Given the description of an element on the screen output the (x, y) to click on. 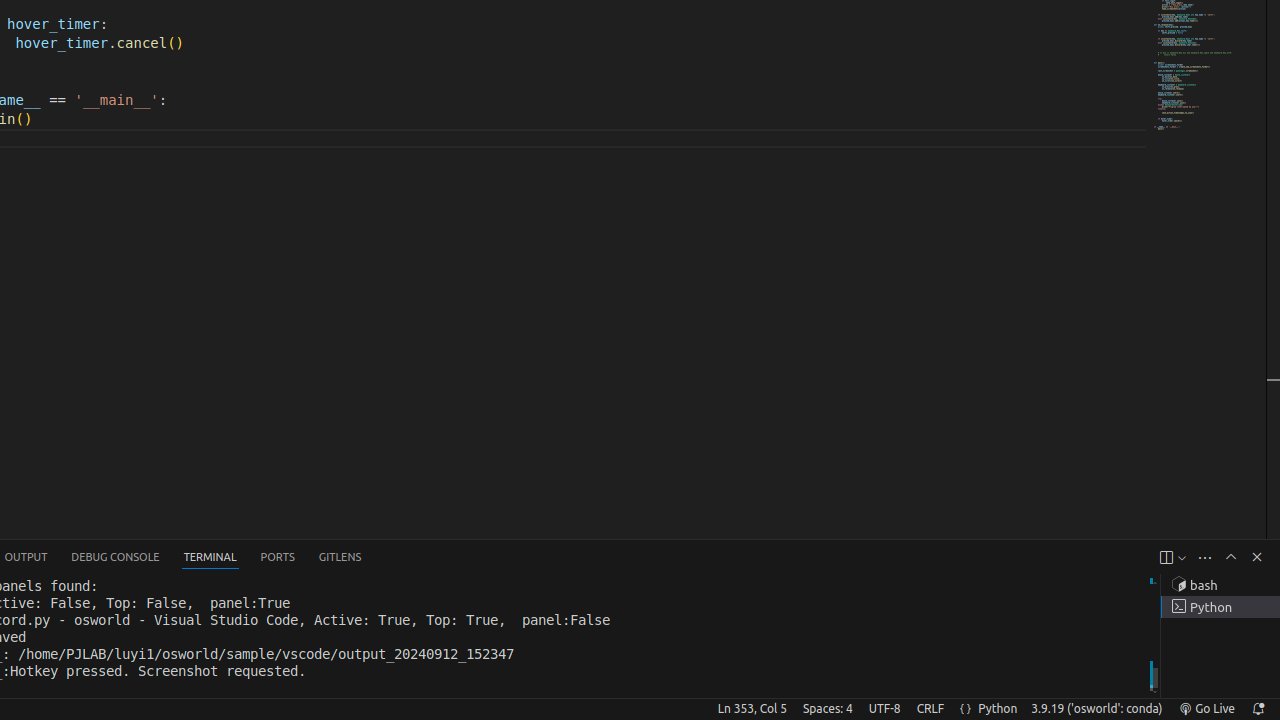
broadcast Go Live, Click to run live server Element type: push-button (1206, 709)
Maximize Panel Size Element type: check-box (1231, 557)
Terminal (Ctrl+`) Element type: page-tab (210, 557)
Ports Element type: page-tab (277, 557)
Ln 353, Col 5 Element type: push-button (752, 709)
